Given the description of an element on the screen output the (x, y) to click on. 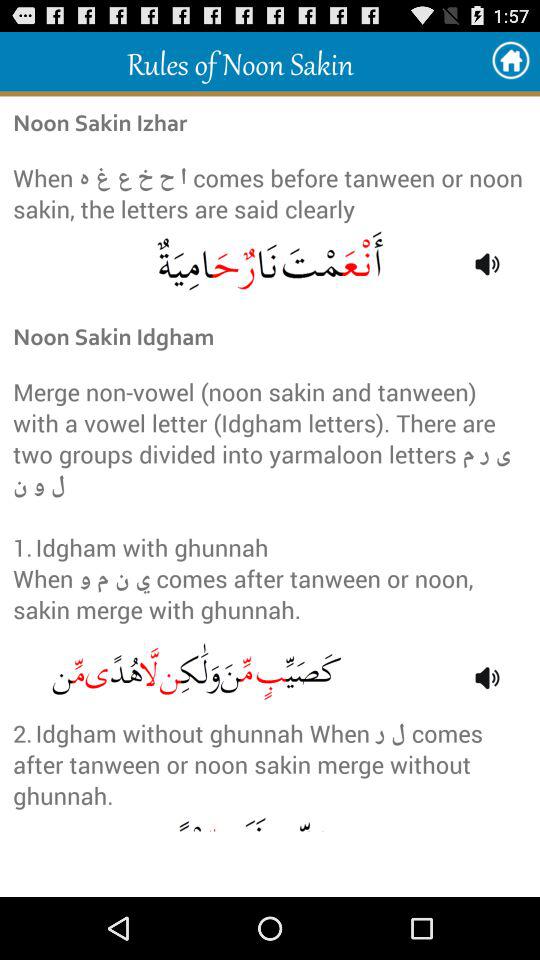
turn off app next to rules of noon item (510, 60)
